Given the description of an element on the screen output the (x, y) to click on. 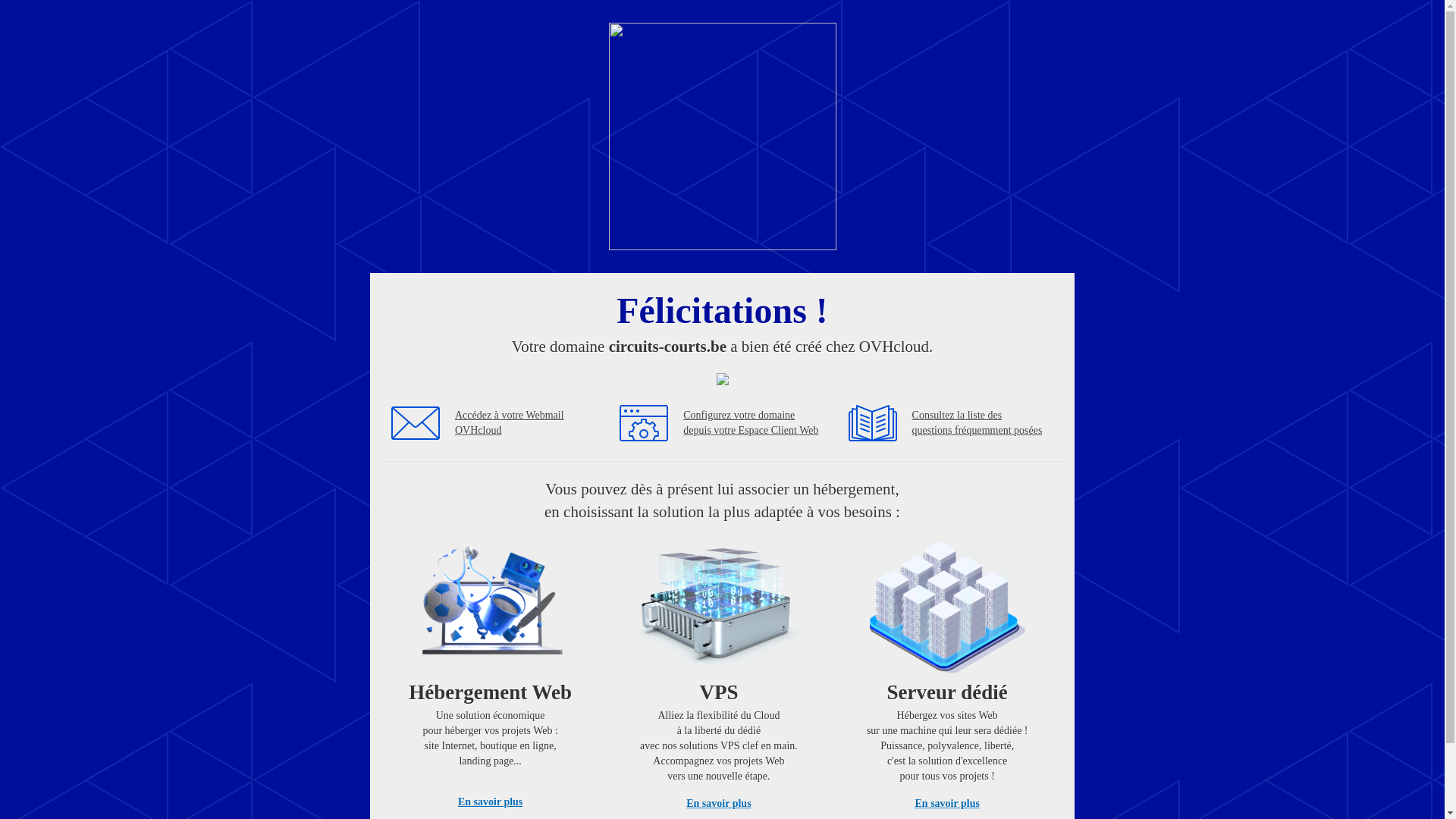
En savoir plus Element type: text (490, 801)
VPS Element type: hover (718, 669)
Configurez votre domaine
depuis votre Espace Client Web Element type: text (750, 422)
En savoir plus Element type: text (718, 803)
En savoir plus Element type: text (947, 803)
OVHcloud Element type: hover (721, 245)
